Given the description of an element on the screen output the (x, y) to click on. 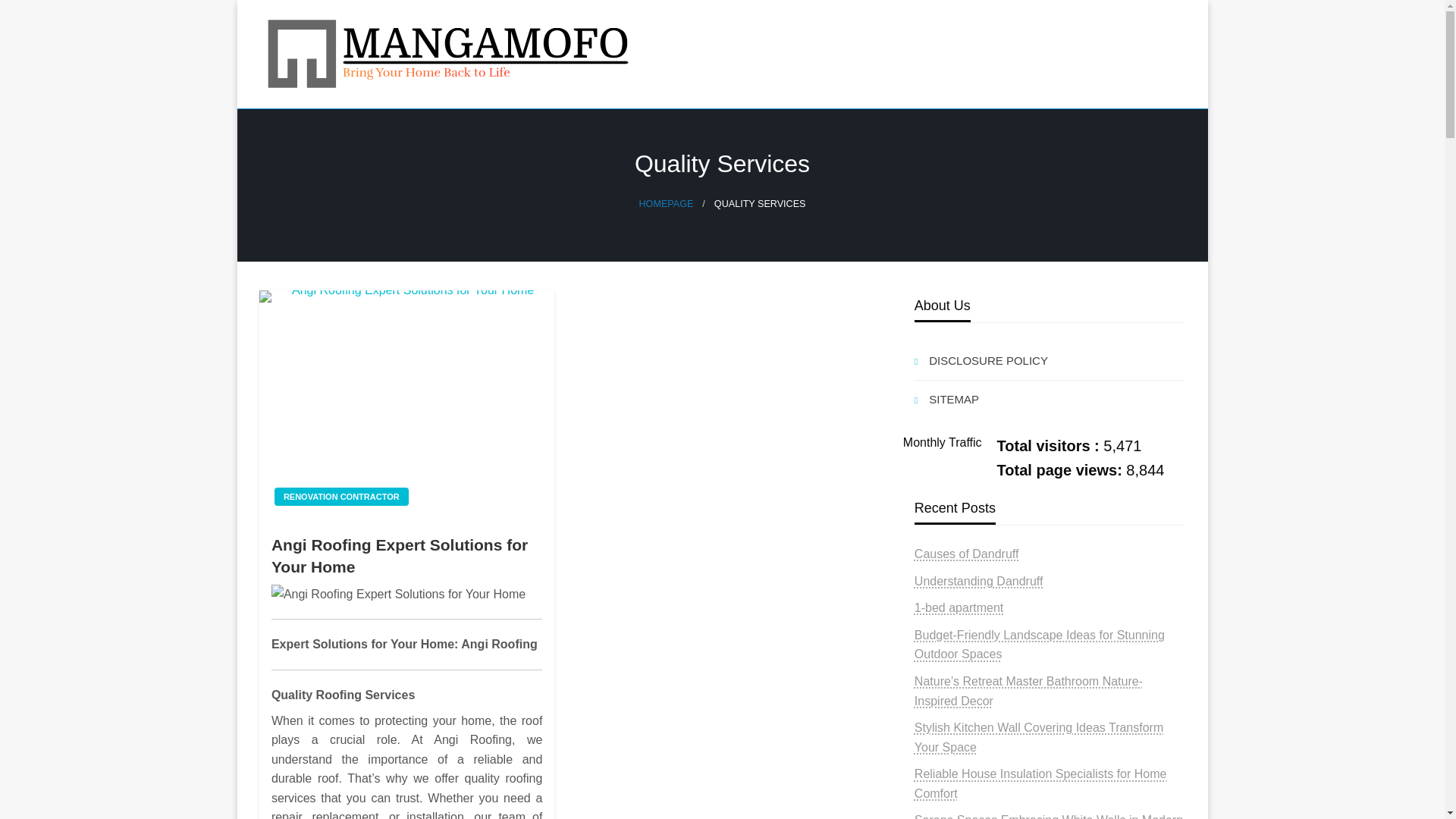
Serene Spaces Embracing White Walls in Modern Interiors (1048, 816)
Understanding Dandruff (978, 581)
DISCLOSURE POLICY (1049, 360)
Reliable House Insulation Specialists for Home Comfort (1040, 783)
Budget-Friendly Landscape Ideas for Stunning Outdoor Spaces (1039, 644)
Causes of Dandruff (966, 553)
Angi Roofing Expert Solutions for Your Home (406, 403)
SITEMAP (1049, 399)
RENOVATION CONTRACTOR (342, 496)
Angi Roofing Expert Solutions for Your Home (405, 555)
MANGAMOFO (364, 120)
Homepage (666, 204)
HOMEPAGE (666, 204)
1-bed apartment (958, 607)
